Given the description of an element on the screen output the (x, y) to click on. 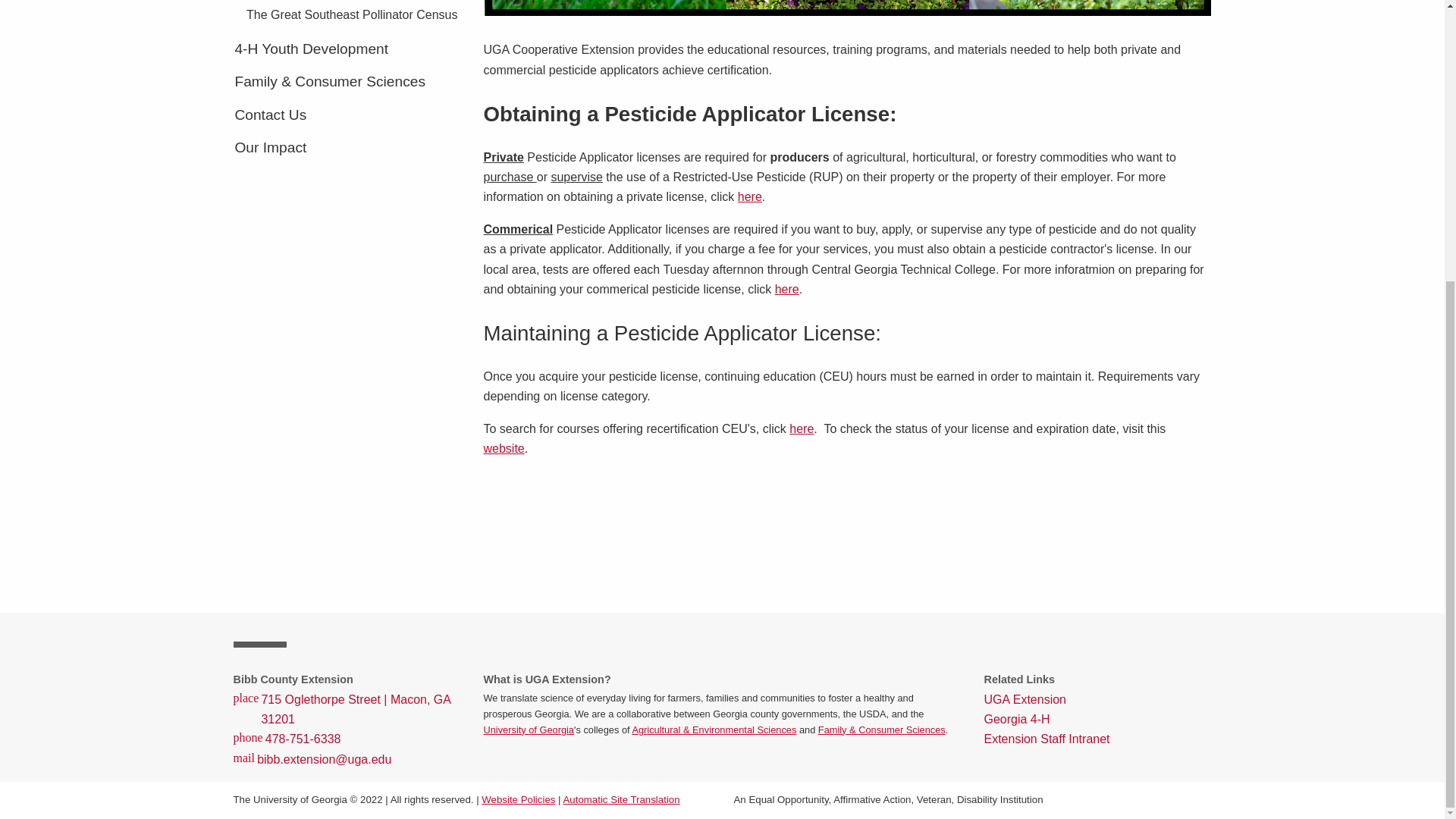
The Great Southeast Pollinator Census (353, 15)
here (786, 288)
Our Impact (346, 147)
Contact Us (346, 115)
4-H Youth Development (346, 48)
website (503, 448)
here (801, 428)
here (749, 196)
